Given the description of an element on the screen output the (x, y) to click on. 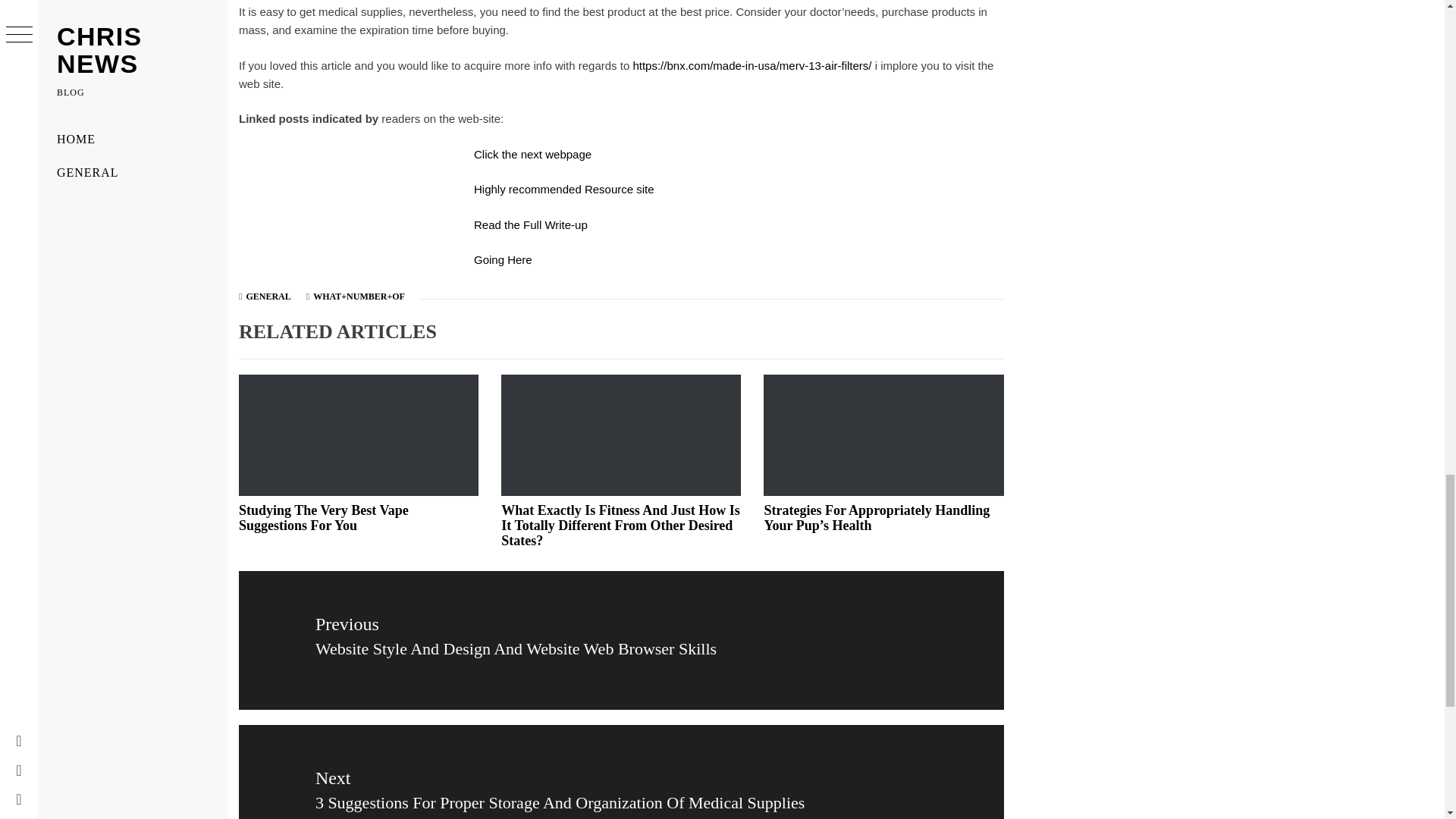
Going Here (503, 259)
Read the Full Write-up (531, 224)
GENERAL (267, 296)
Highly recommended Resource site (563, 188)
Click the next webpage (532, 154)
Studying The Very Best Vape Suggestions For You (323, 517)
